Given the description of an element on the screen output the (x, y) to click on. 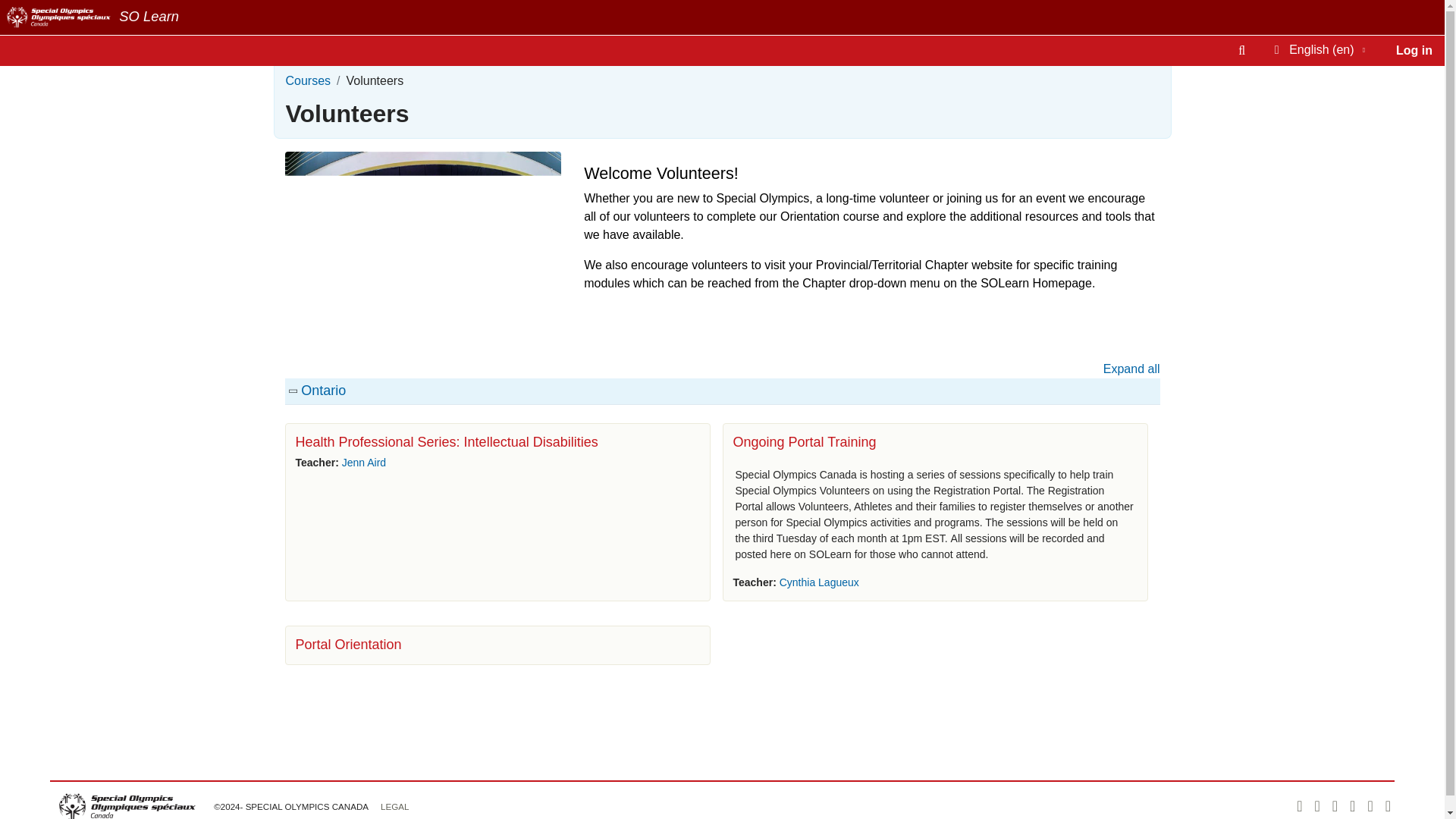
Log in (1414, 51)
